Given the description of an element on the screen output the (x, y) to click on. 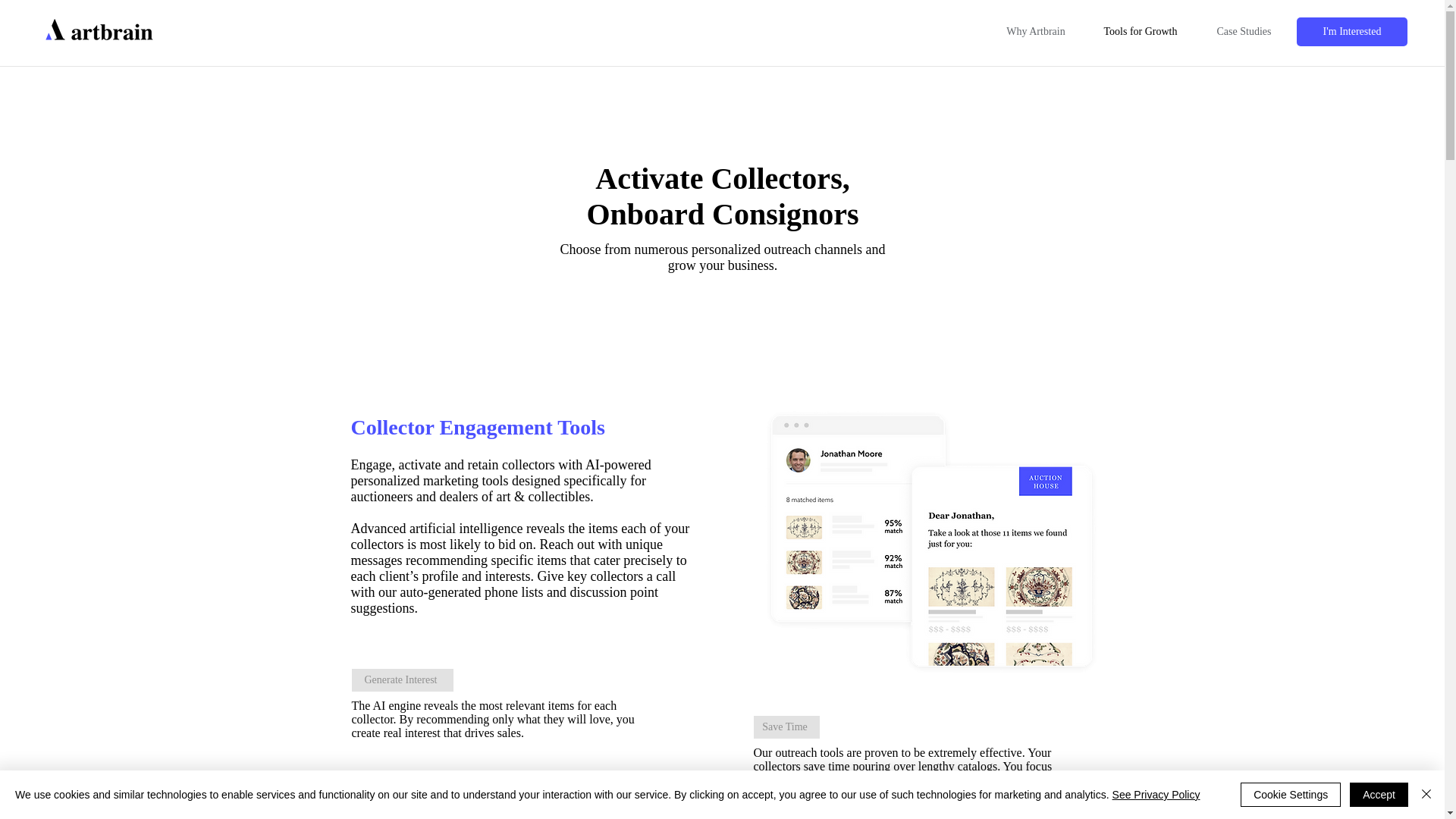
Save Time (786, 726)
Solidify Trust, Increase Retention (440, 786)
Generate Interest (402, 680)
Case Studies (1244, 31)
I'm Interested (1352, 31)
Why Artbrain (1035, 31)
Tools for Growth (1140, 31)
